Given the description of an element on the screen output the (x, y) to click on. 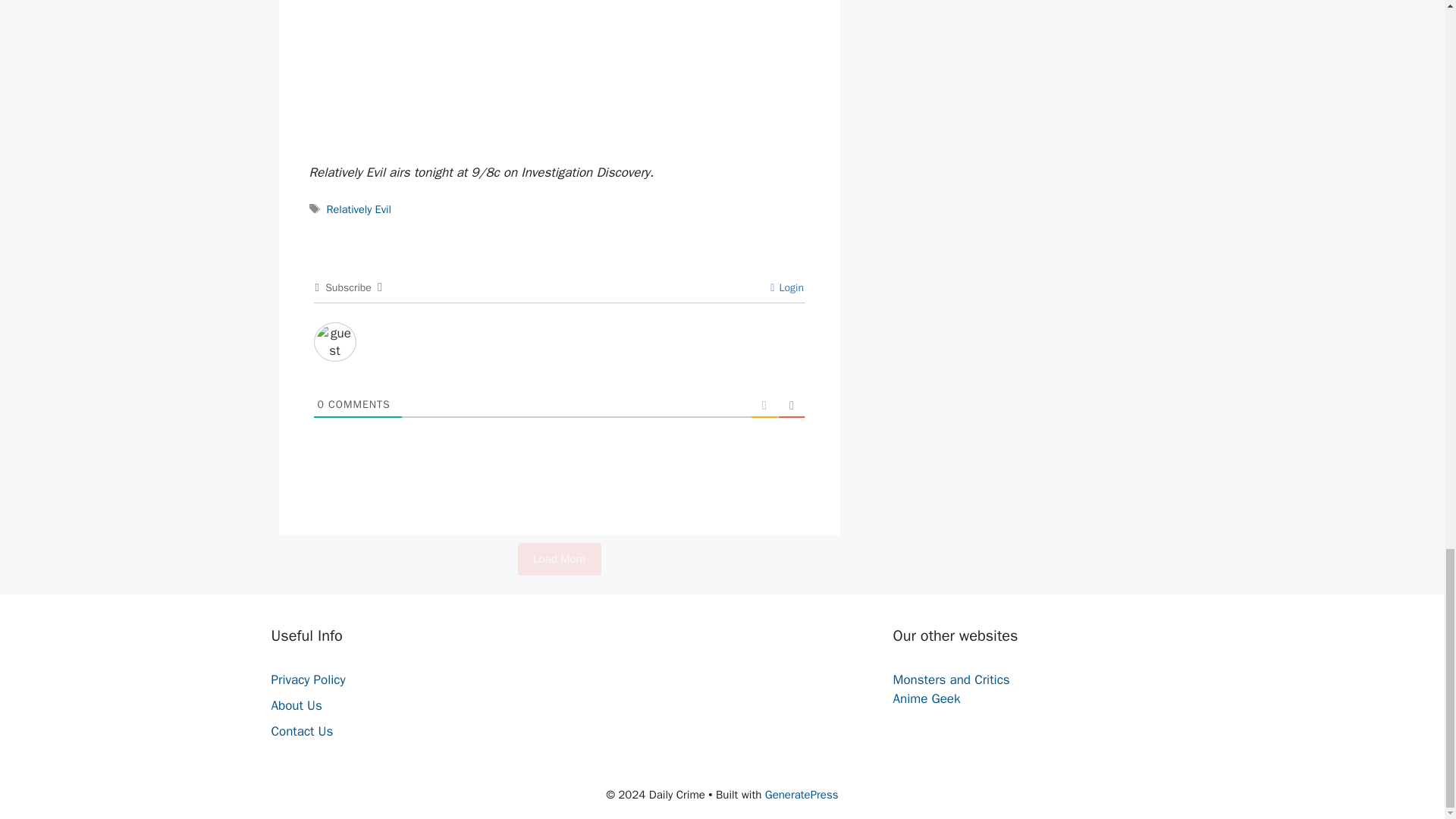
Relatively Evil (358, 209)
Login (786, 287)
